Given the description of an element on the screen output the (x, y) to click on. 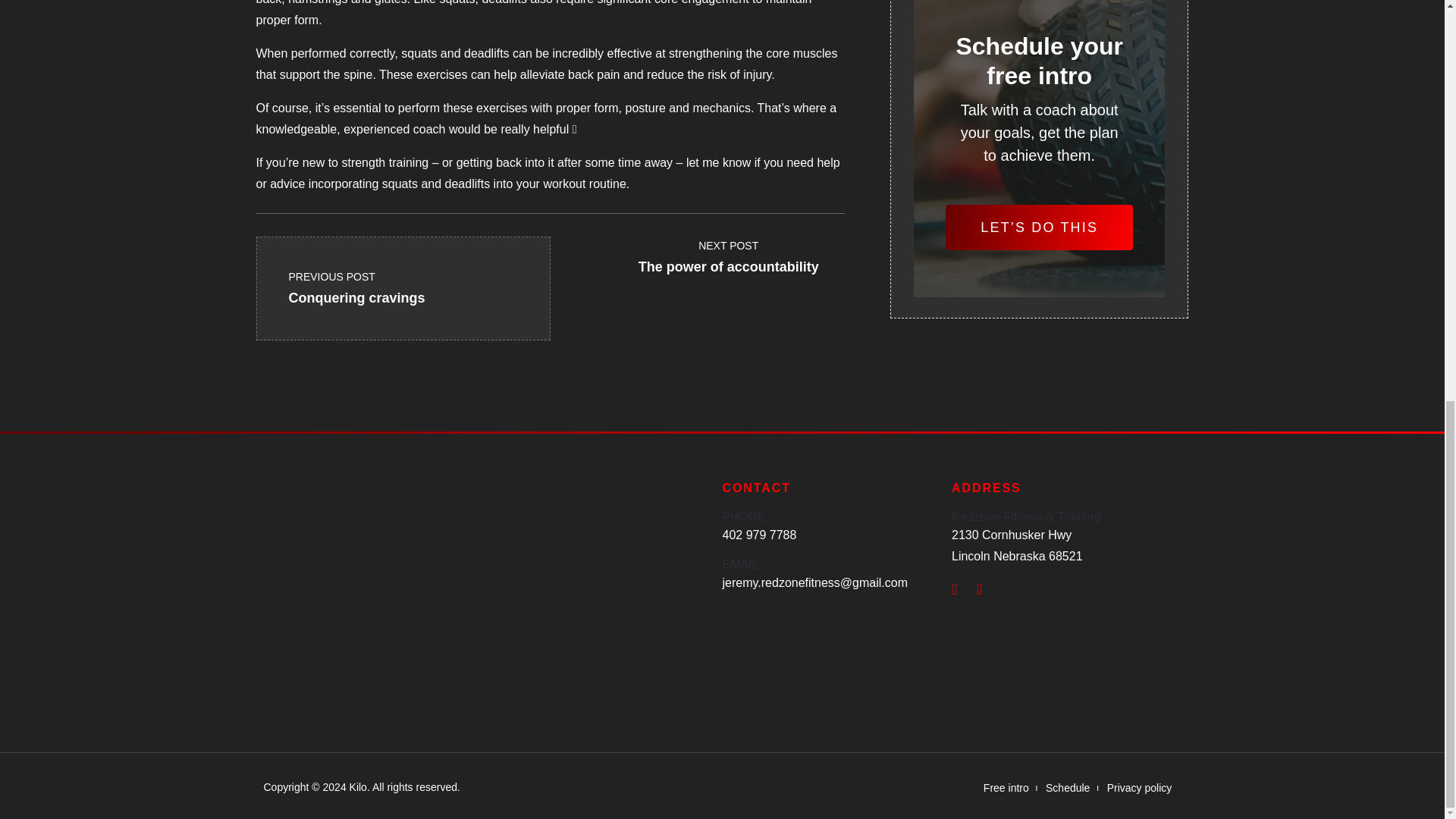
Conquering cravings (728, 252)
The power of accountability (365, 283)
